Given the description of an element on the screen output the (x, y) to click on. 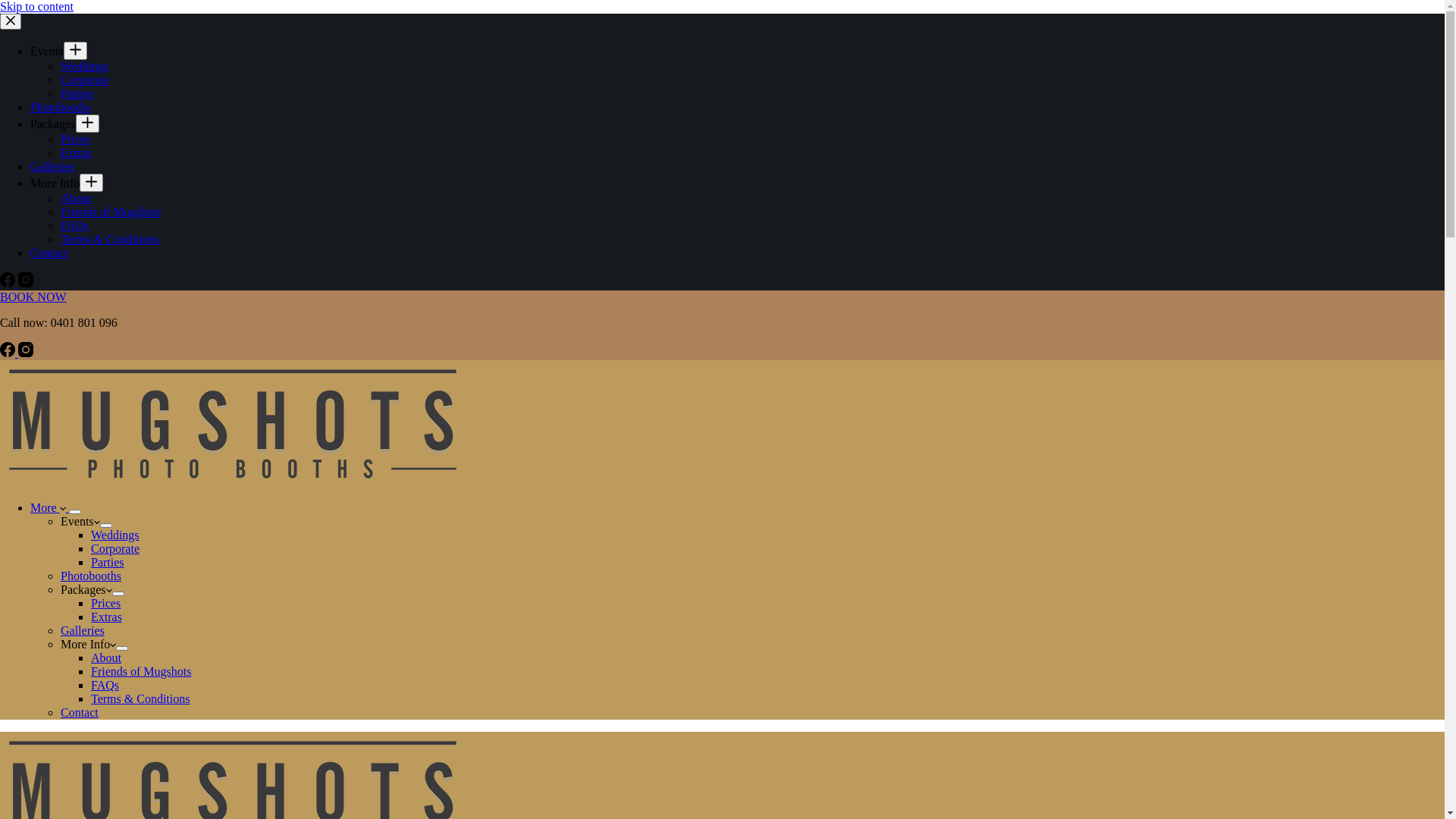
Prices Element type: text (105, 602)
Galleries Element type: text (52, 166)
Contact Element type: text (49, 252)
BOOK NOW Element type: text (33, 296)
Terms & Conditions Element type: text (109, 238)
FAQs Element type: text (105, 684)
Parties Element type: text (77, 93)
Weddings Element type: text (84, 65)
More Info Element type: text (54, 182)
More Info Element type: text (88, 643)
Galleries Element type: text (82, 630)
Photobooths Element type: text (60, 106)
Contact Element type: text (79, 712)
Prices Element type: text (75, 138)
Weddings Element type: text (115, 534)
Packages Element type: text (86, 589)
Events Element type: text (46, 50)
Photobooths Element type: text (90, 575)
Parties Element type: text (107, 561)
More Element type: text (49, 507)
Events Element type: text (80, 520)
Extras Element type: text (75, 152)
About Element type: text (106, 657)
Skip to content Element type: text (36, 6)
FAQs Element type: text (74, 225)
Friends of Mugshots Element type: text (141, 671)
Corporate Element type: text (115, 548)
Extras Element type: text (106, 616)
Terms & Conditions Element type: text (140, 698)
About Element type: text (75, 197)
Packages Element type: text (52, 123)
Friends of Mugshots Element type: text (110, 211)
Corporate Element type: text (84, 79)
